Given the description of an element on the screen output the (x, y) to click on. 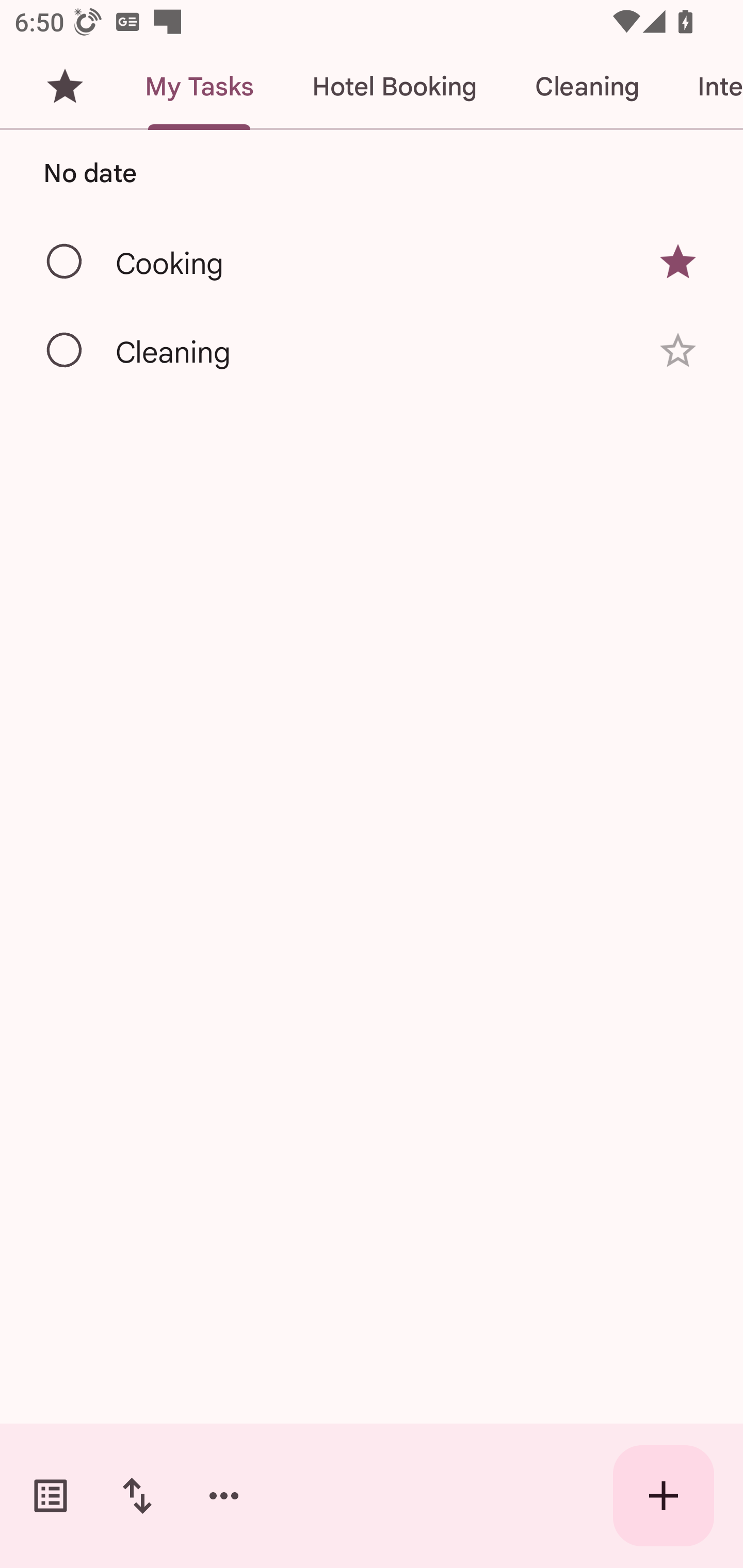
Starred (64, 86)
Hotel Booking (394, 86)
Cleaning (586, 86)
Remove star (677, 261)
Mark as complete (64, 261)
Cleaning Cleaning Add star Mark as complete (371, 349)
Add star (677, 350)
Mark as complete (64, 351)
Switch task lists (50, 1495)
Create new task (663, 1495)
Change sort order (136, 1495)
More options (223, 1495)
